Given the description of an element on the screen output the (x, y) to click on. 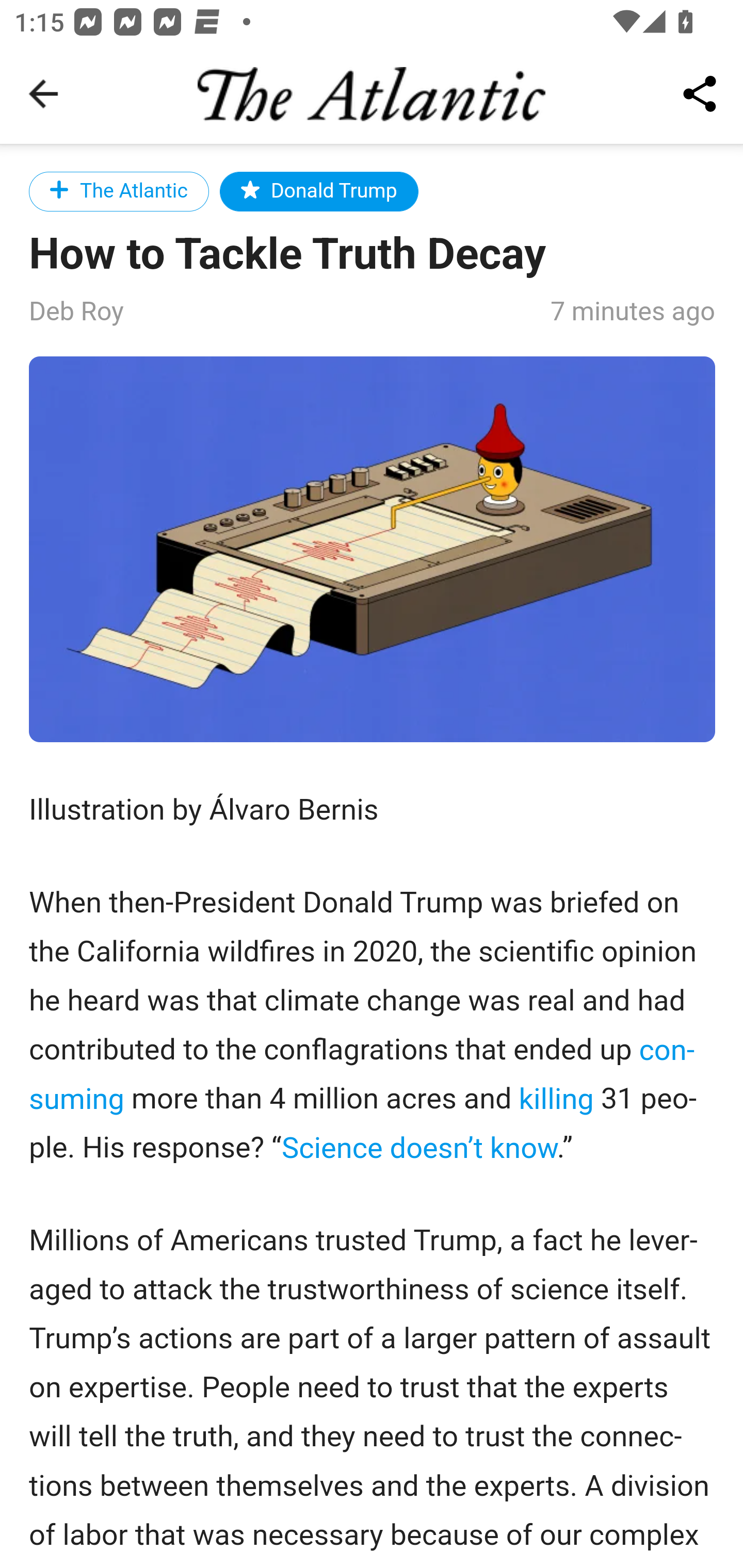
The Atlantic (118, 191)
Donald Trump (318, 191)
consuming (361, 1073)
killing (555, 1098)
Science doesn’t know (418, 1147)
